Given the description of an element on the screen output the (x, y) to click on. 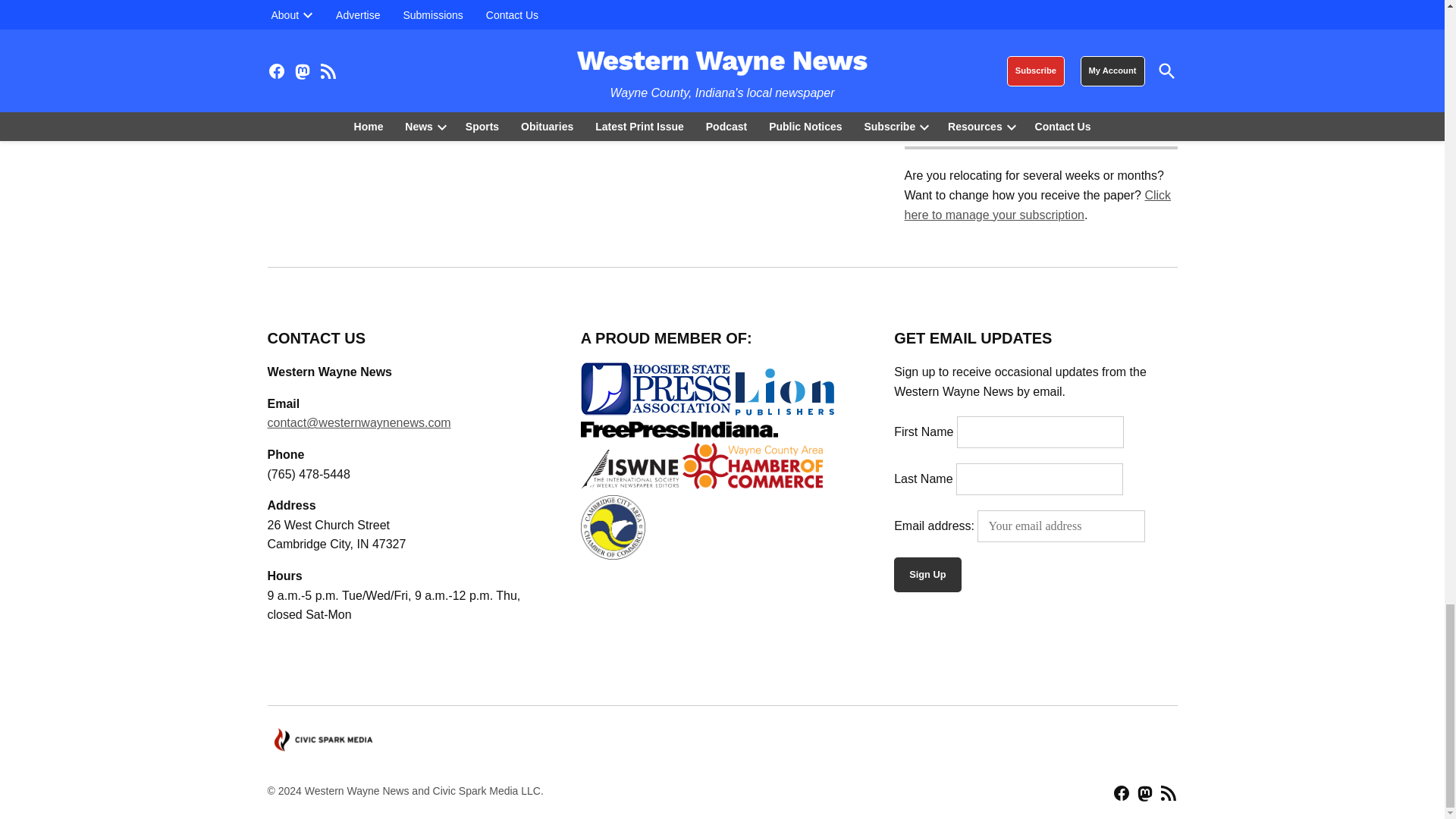
LION Publishers (784, 391)
Sign Up (926, 574)
Free Press Indiana (678, 429)
Wayne County Area Chamber of Commerce (752, 465)
Hoosier State Press Association (656, 388)
Cambridge City Chamber of Commerce (612, 527)
ISWNE (629, 468)
